Given the description of an element on the screen output the (x, y) to click on. 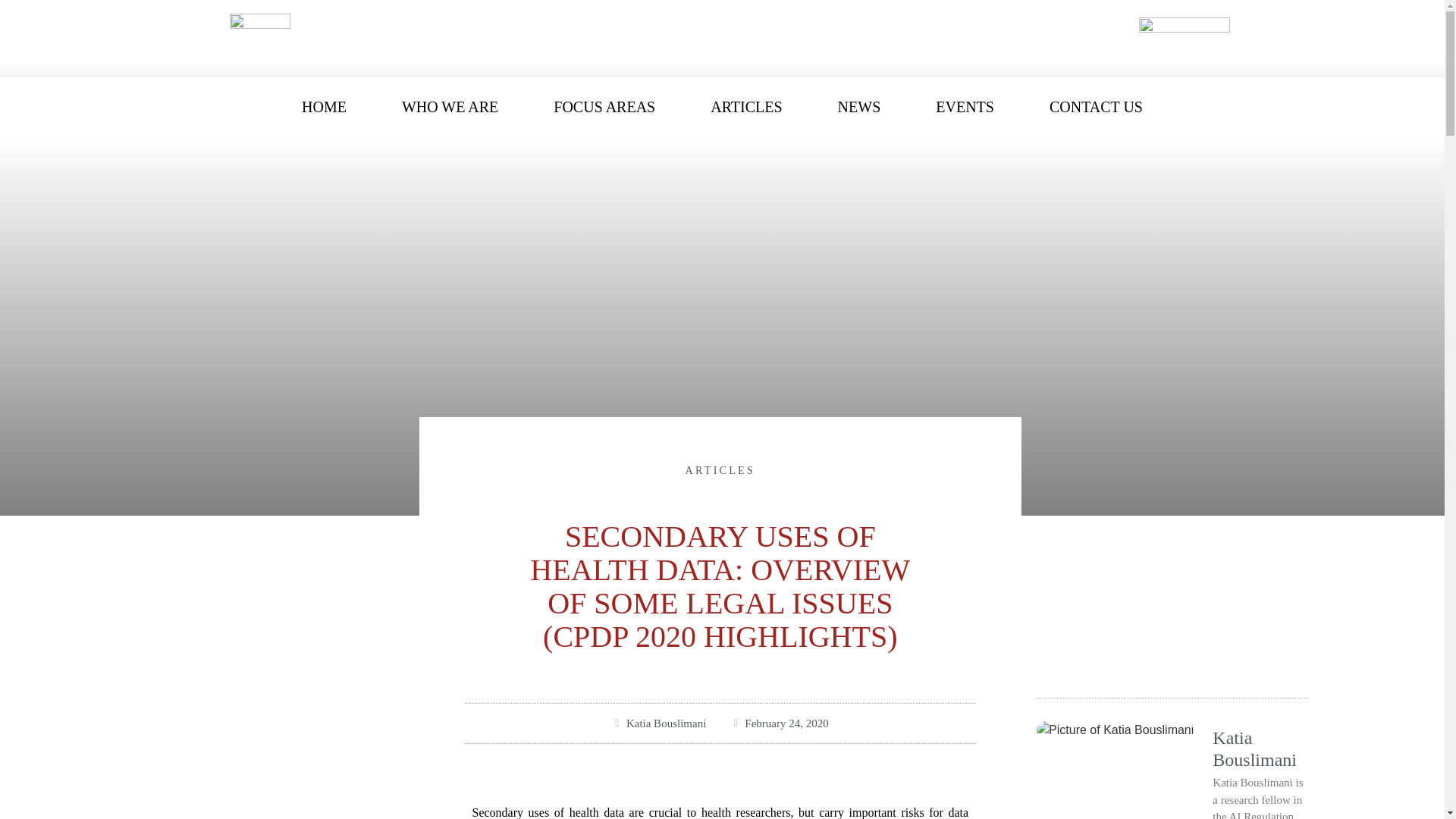
EVENTS (964, 106)
CONTACT US (1095, 106)
ARTICLES (745, 106)
HOME (323, 106)
FOCUS AREAS (603, 106)
WHO WE ARE (450, 106)
NEWS (859, 106)
